Given the description of an element on the screen output the (x, y) to click on. 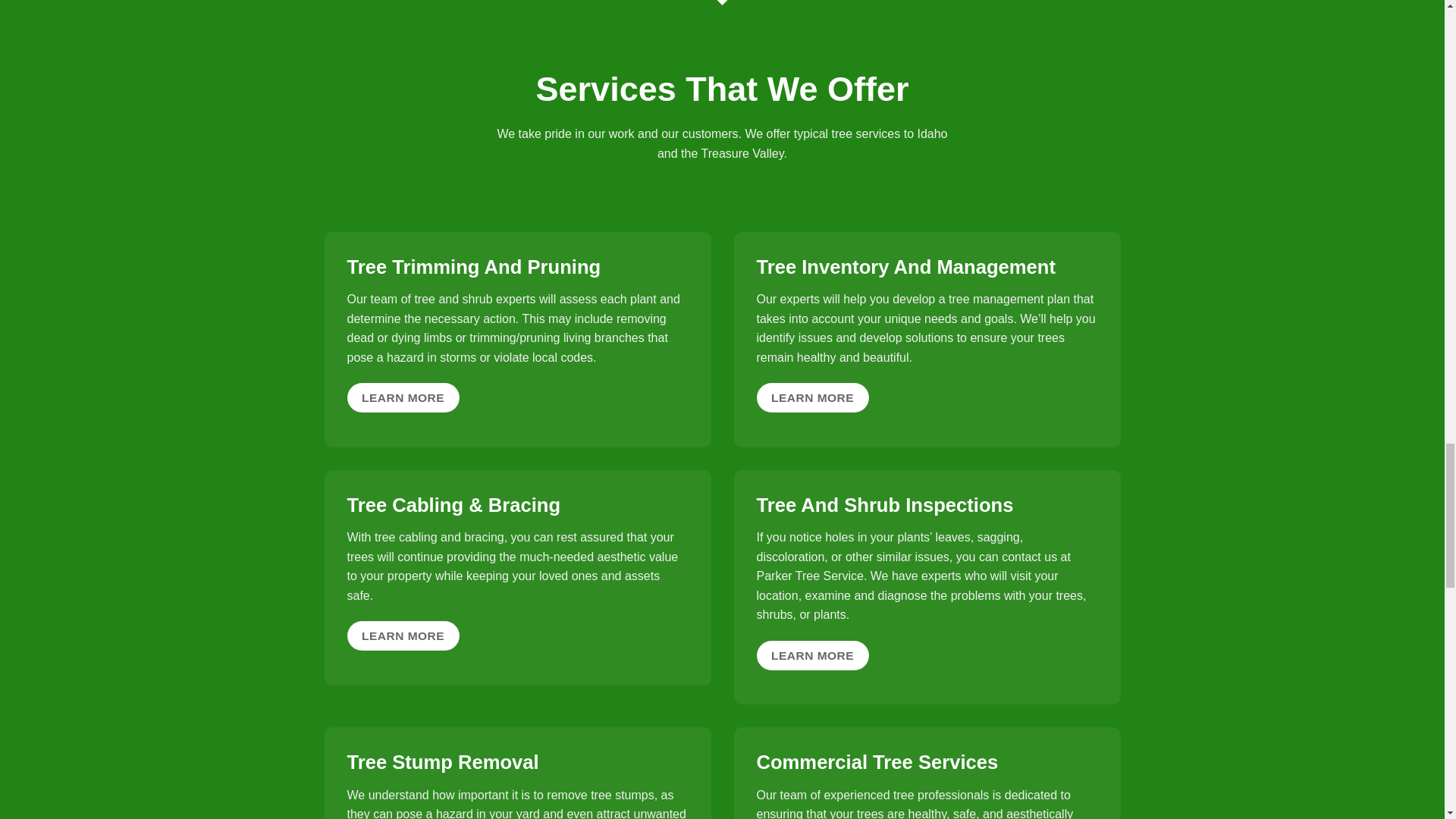
LEARN MORE (813, 397)
LEARN MORE (813, 655)
LEARN MORE (403, 635)
LEARN MORE (403, 397)
